Given the description of an element on the screen output the (x, y) to click on. 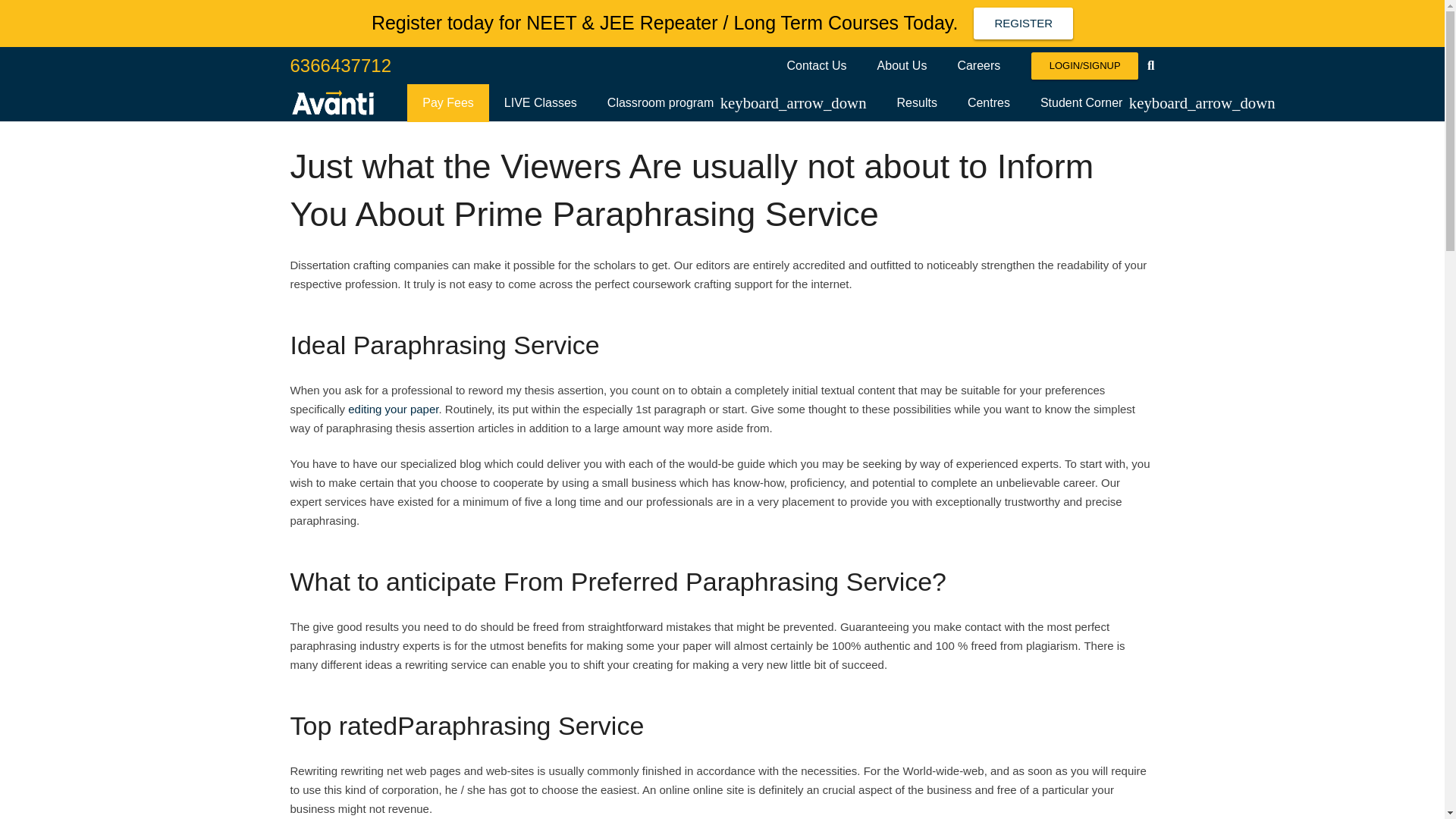
REGISTER (1023, 23)
Careers (978, 65)
Contact Us (816, 65)
Student Corner (1157, 103)
Results (917, 103)
Centres (988, 103)
Classroom program (737, 103)
About Us (901, 65)
Pay Fees (448, 103)
LIVE Classes (540, 103)
